Given the description of an element on the screen output the (x, y) to click on. 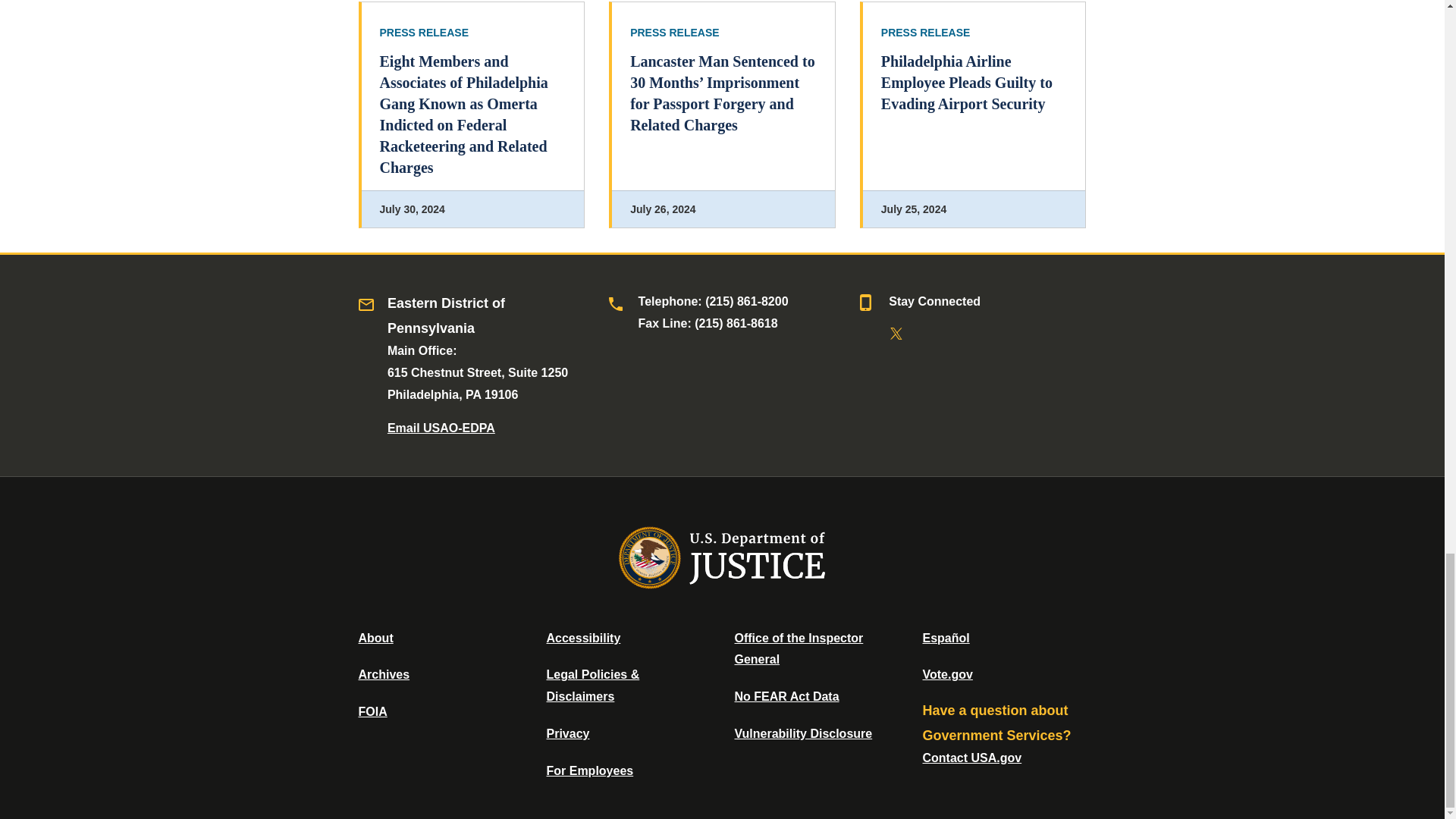
About DOJ (375, 637)
Department of Justice Archive (383, 674)
Office of Information Policy (372, 711)
Legal Policies and Disclaimers (592, 685)
For Employees (589, 770)
Data Posted Pursuant To The No Fear Act (785, 696)
Accessibility Statement (583, 637)
